Given the description of an element on the screen output the (x, y) to click on. 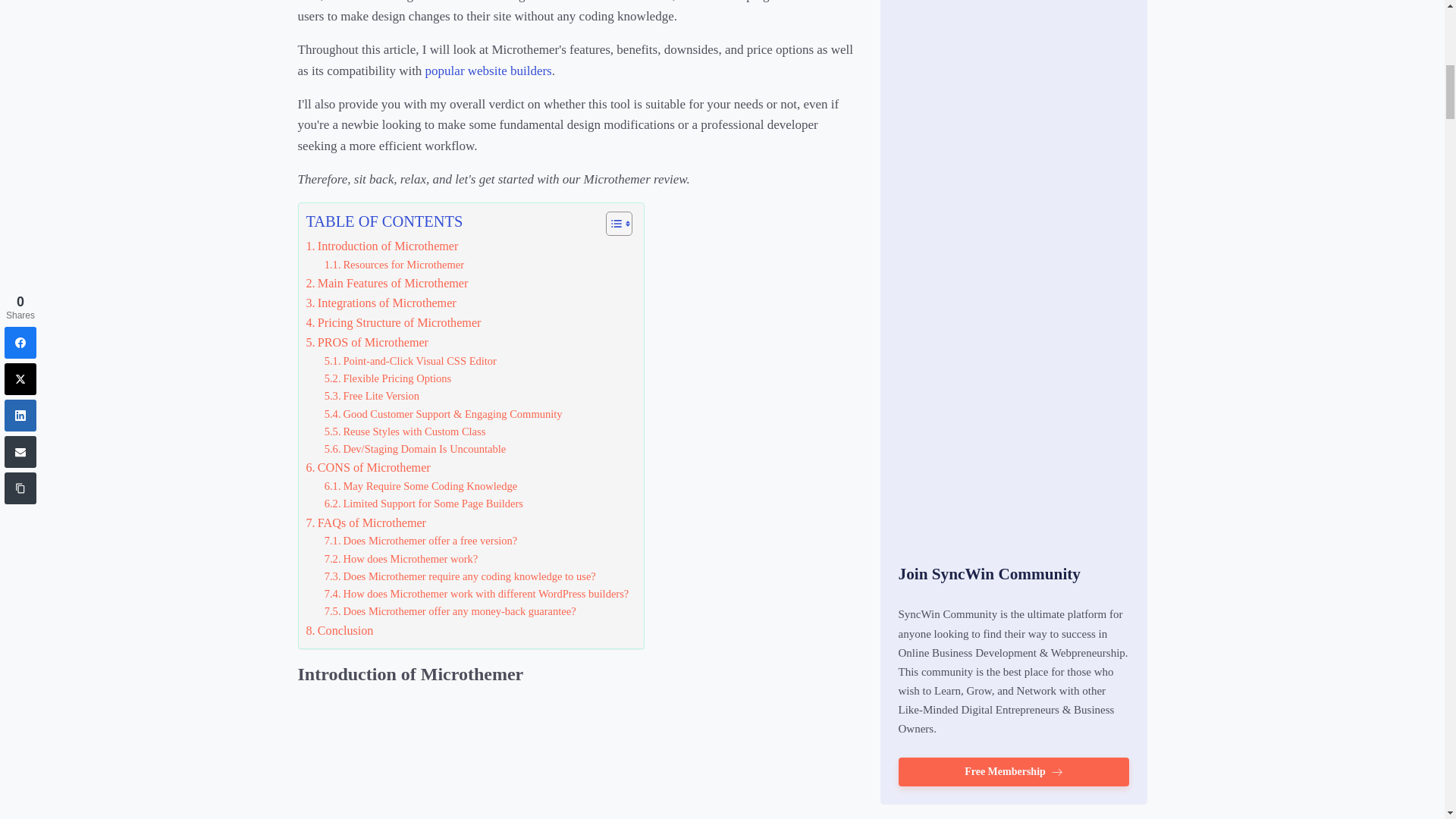
How does Microthemer work? (400, 559)
FAQs of Microthemer (365, 523)
CONS of Microthemer (367, 467)
Does Microthemer require any coding knowledge to use? (459, 576)
Flexible Pricing Options (387, 378)
Limited Support for Some Page Builders (423, 503)
Free Lite Version (371, 395)
Resources for Microthemer (394, 264)
Introduction of Microthemer (381, 246)
Main Features of Microthemer (386, 283)
Integrations of Microthemer (381, 302)
Does Microthemer offer a free version? (421, 540)
Pricing Structure of Microthemer (393, 322)
PROS of Microthemer (367, 342)
Point-and-Click Visual CSS Editor (410, 361)
